Given the description of an element on the screen output the (x, y) to click on. 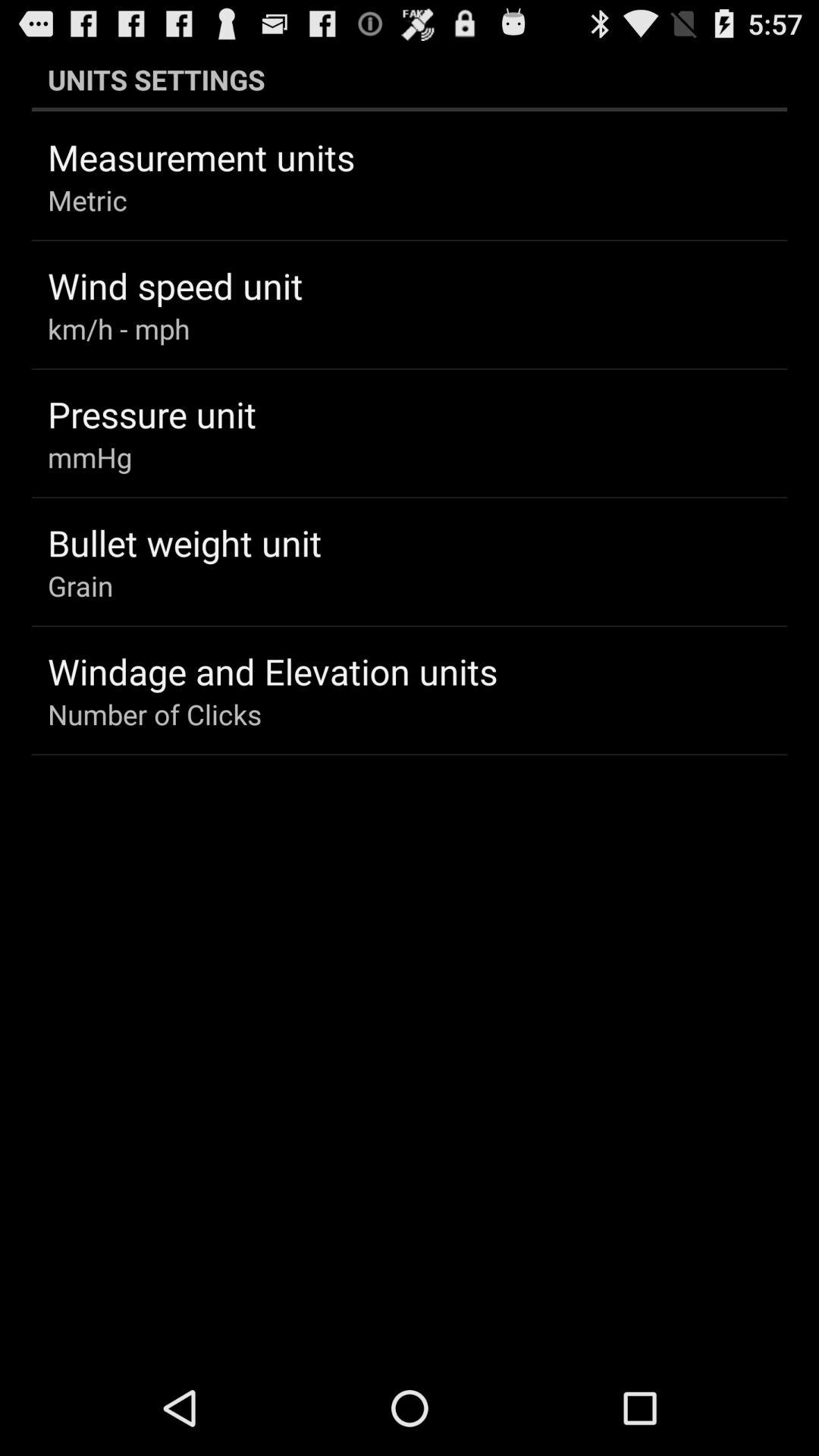
jump to wind speed unit app (175, 285)
